Given the description of an element on the screen output the (x, y) to click on. 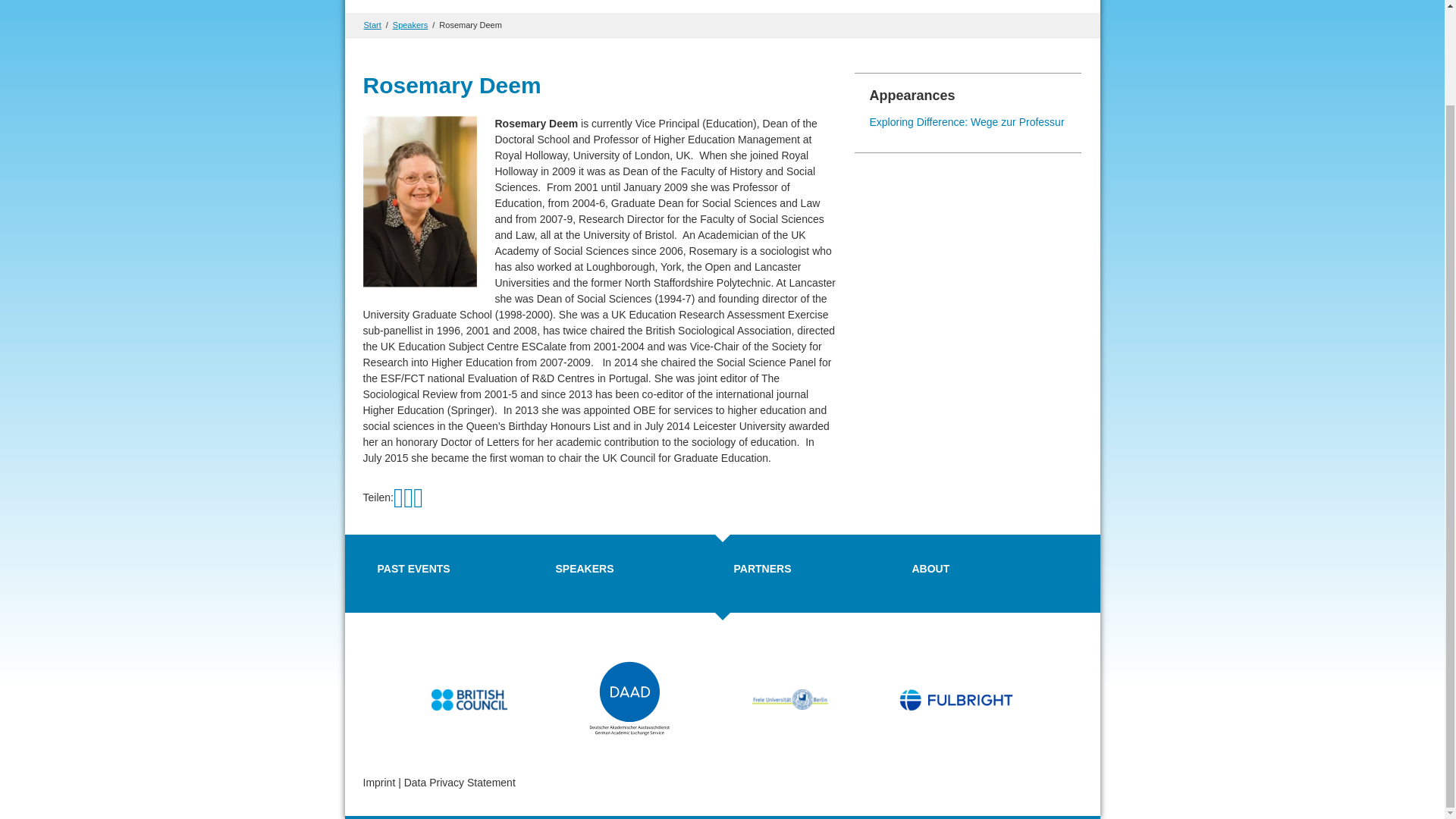
Data Privacy Statement (459, 782)
Start (372, 24)
Speakers (410, 24)
PAST EVENTS (413, 568)
SPEAKERS (583, 568)
Imprint (378, 782)
Rosemary Deem (470, 24)
ABOUT (930, 568)
Exploring Difference: Wege zur Professur (966, 121)
PARTNERS (762, 568)
